Given the description of an element on the screen output the (x, y) to click on. 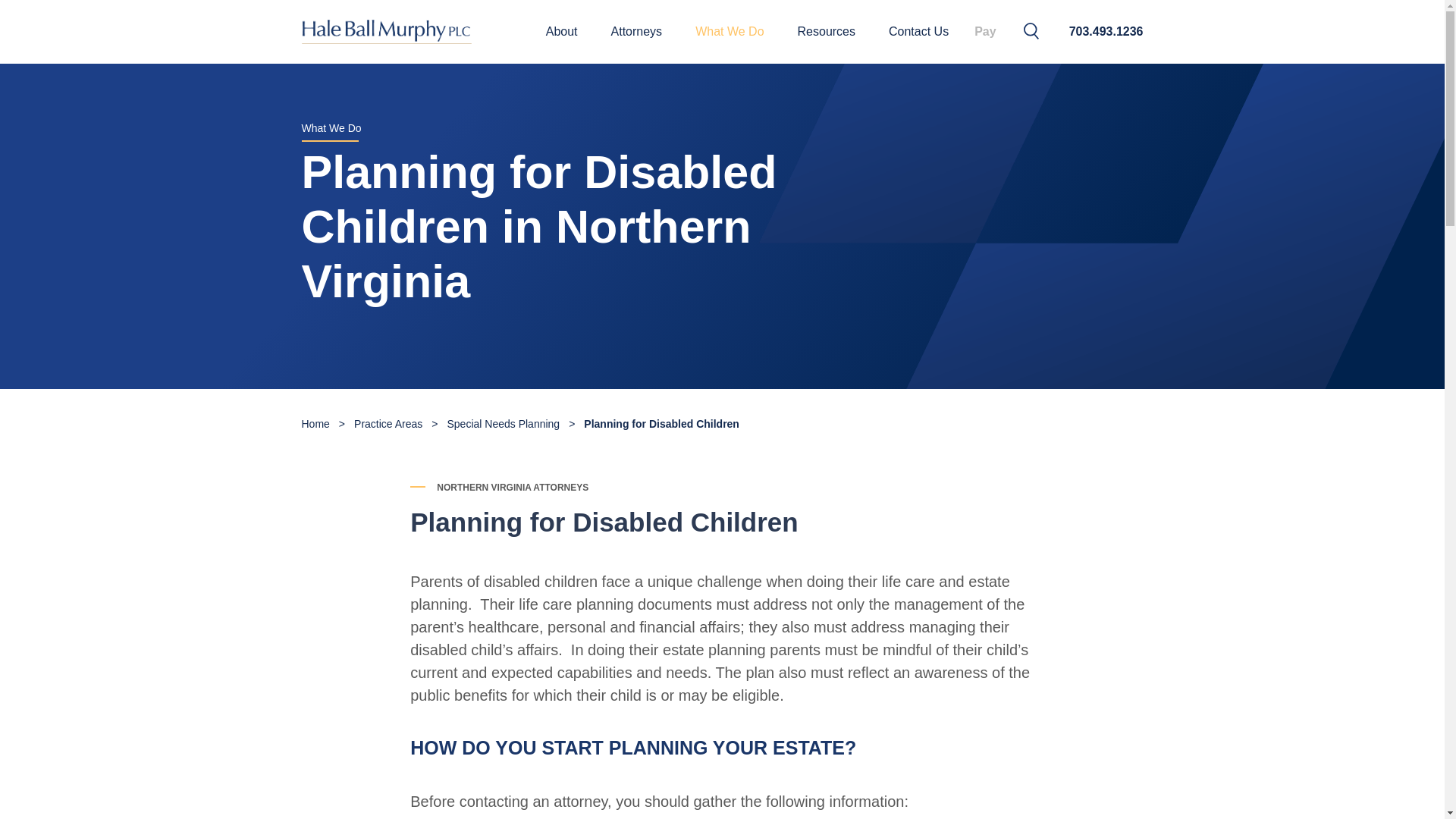
Home (315, 423)
What We Do (729, 31)
Practice Areas (387, 423)
Resources (826, 31)
Special Needs Planning (503, 423)
Contact Us (918, 31)
Attorneys (636, 31)
703.493.1236 (1105, 31)
About (561, 31)
